Given the description of an element on the screen output the (x, y) to click on. 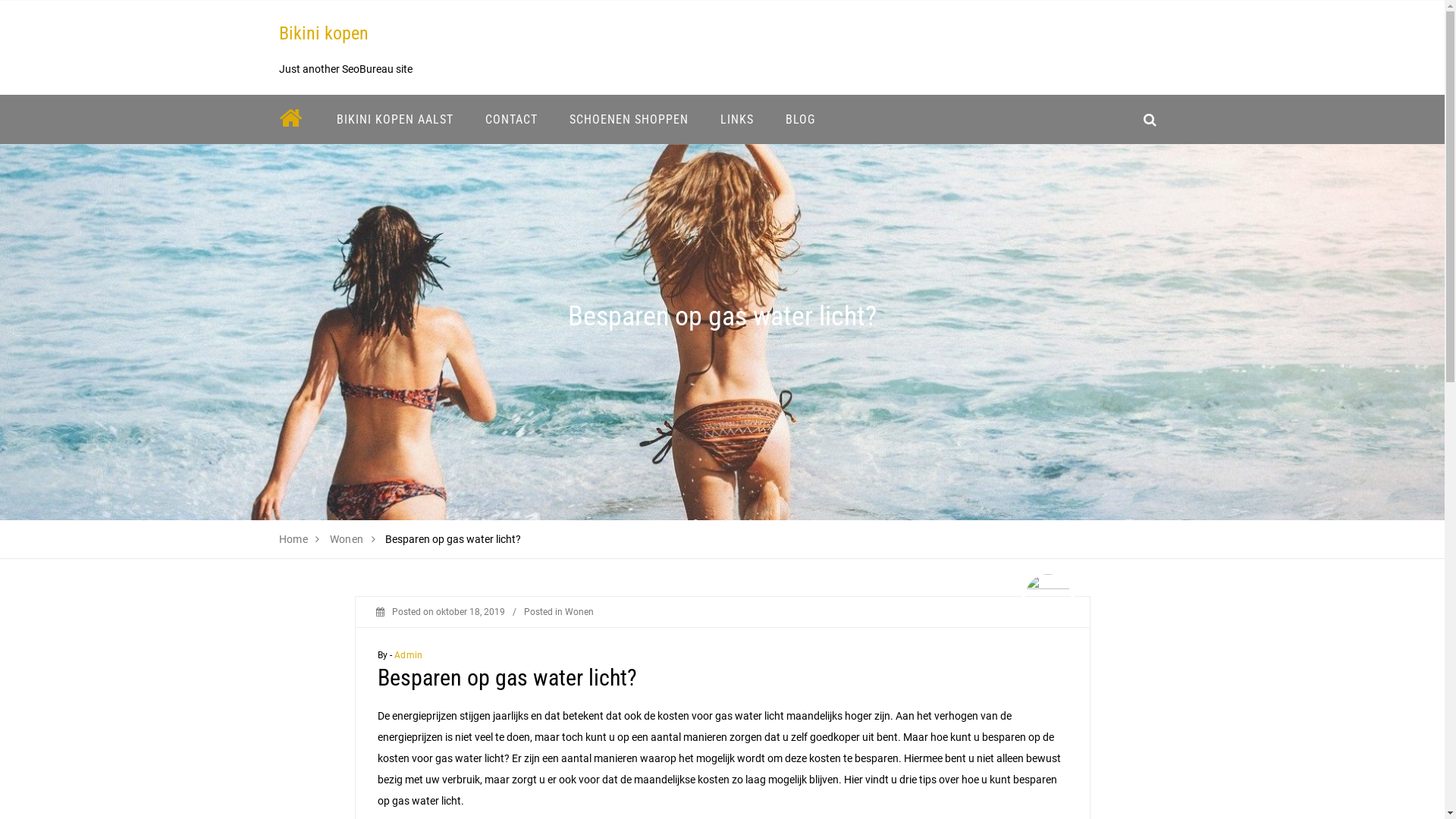
BLOG Element type: text (799, 119)
CONTACT Element type: text (510, 119)
Home Element type: text (293, 539)
LINKS Element type: text (735, 119)
SCHOENEN SHOPPEN Element type: text (628, 119)
search_icon Element type: hover (1148, 119)
Admin Element type: text (408, 654)
Wonen Element type: text (346, 539)
BIKINI KOPEN AALST Element type: text (394, 119)
Bikini kopen Element type: text (323, 32)
Wonen Element type: text (578, 611)
